Given the description of an element on the screen output the (x, y) to click on. 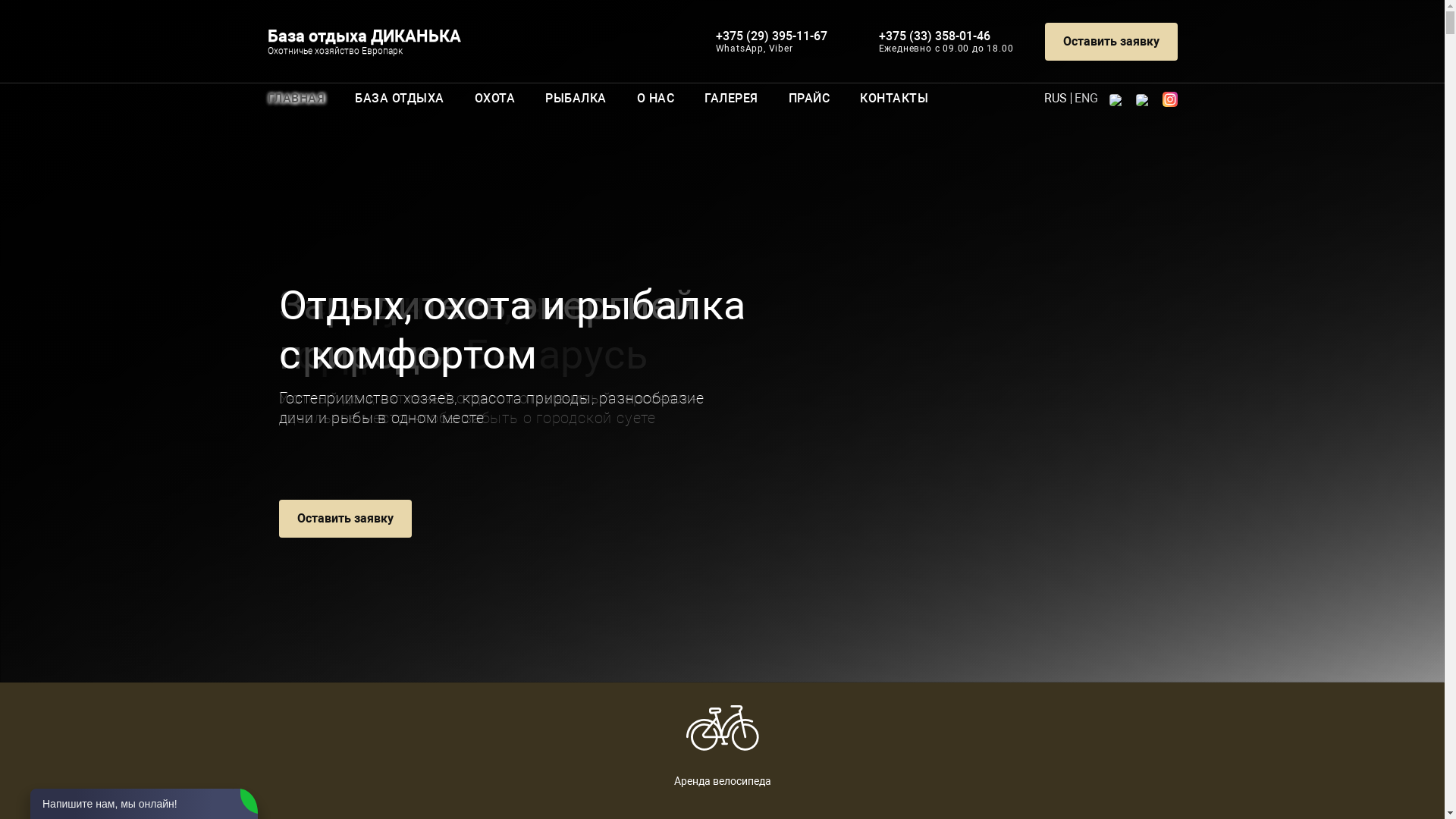
RUS Element type: text (1054, 98)
ENG Element type: text (1085, 98)
+375 (29) 395-11-67 Element type: text (771, 35)
+375 (33) 358-01-46 Element type: text (934, 35)
